Given the description of an element on the screen output the (x, y) to click on. 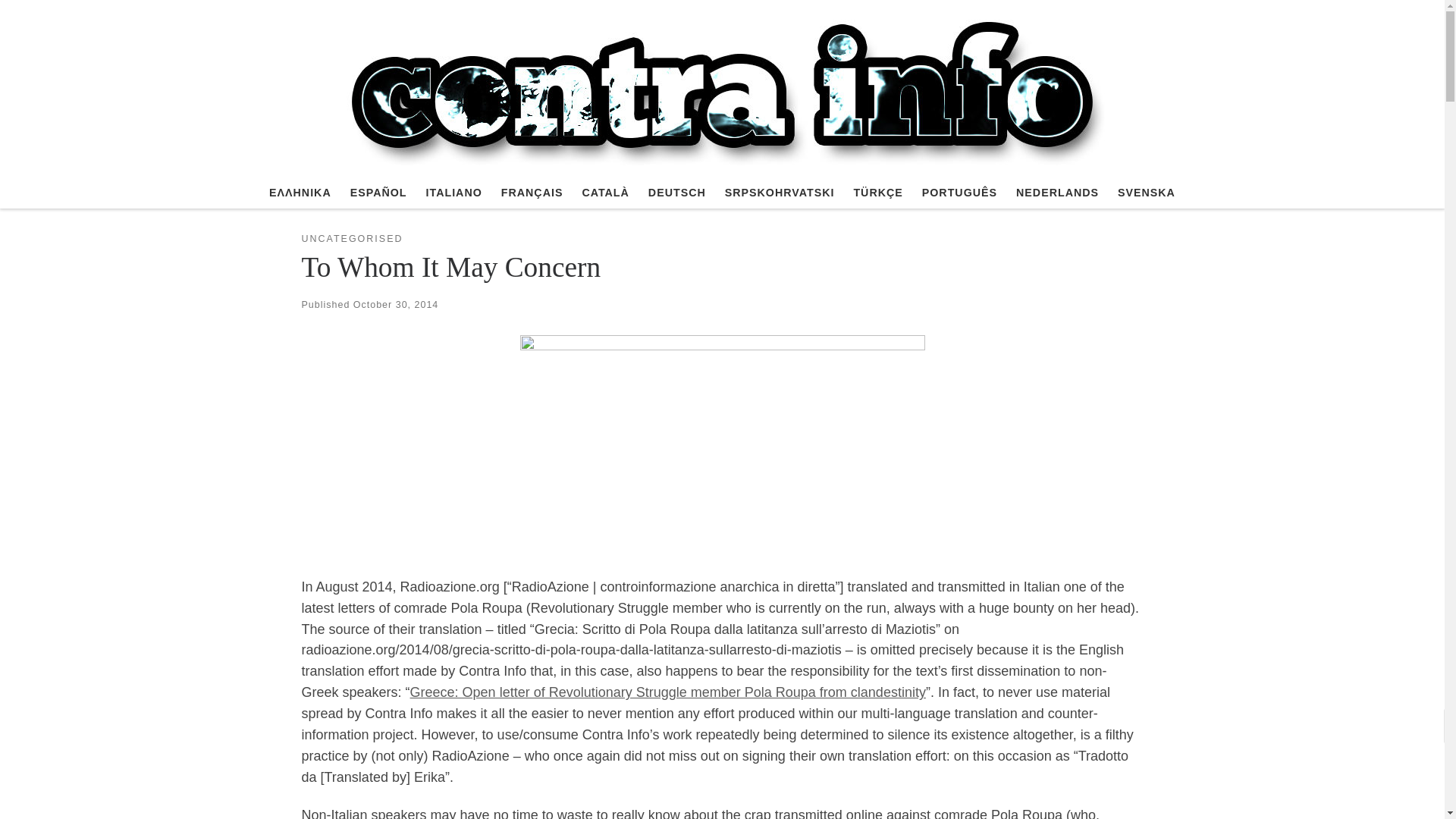
ITALIANO (453, 192)
Skip to content (60, 20)
7:26 pm (395, 304)
October 30, 2014 (395, 304)
SVENSKA (1146, 192)
View all posts in Uncategorised (352, 238)
UNCATEGORISED (352, 238)
SRPSKOHRVATSKI (780, 192)
NEDERLANDS (1057, 192)
